Given the description of an element on the screen output the (x, y) to click on. 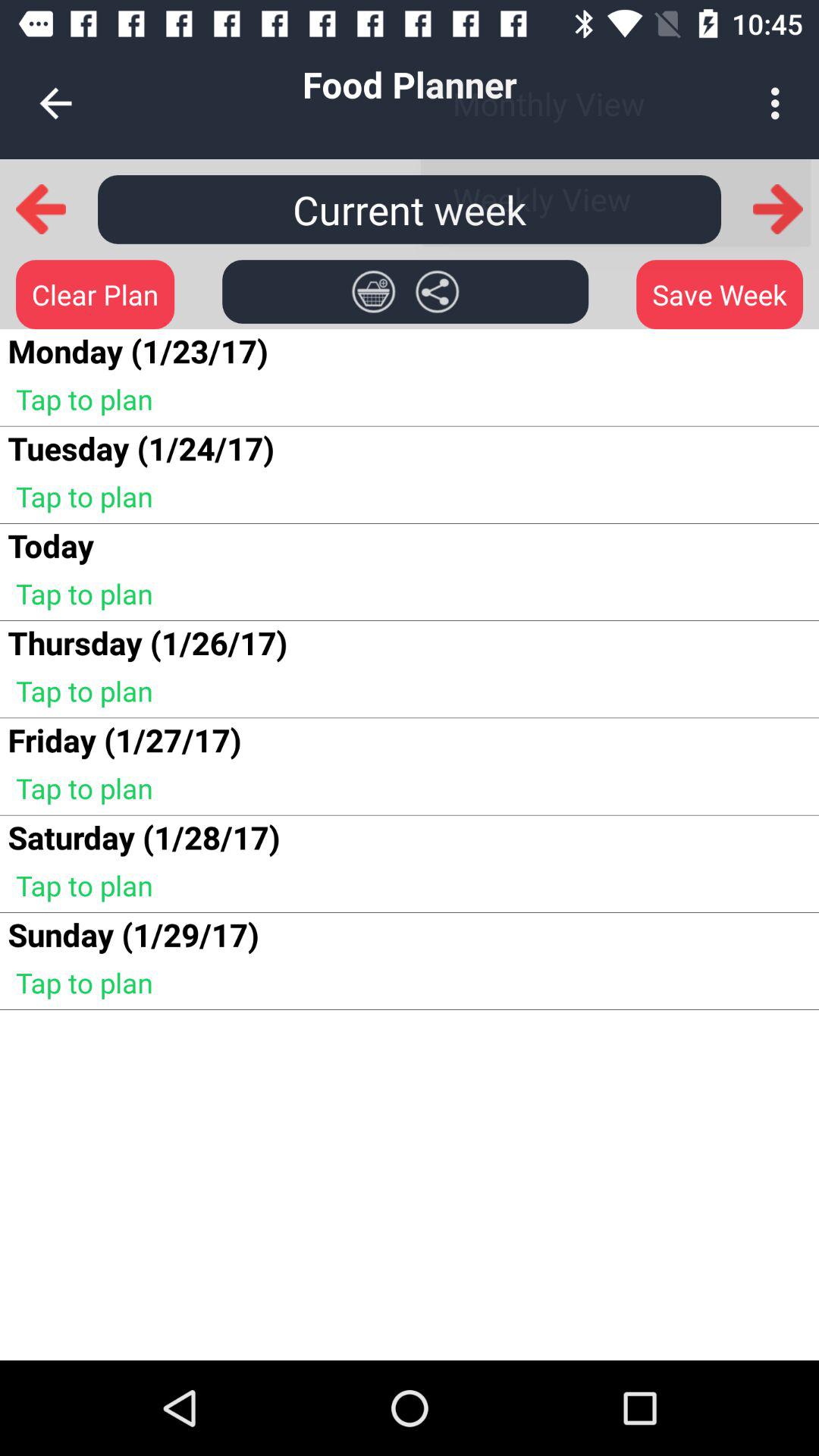
turn on item next to monday 1 23 app (373, 291)
